Given the description of an element on the screen output the (x, y) to click on. 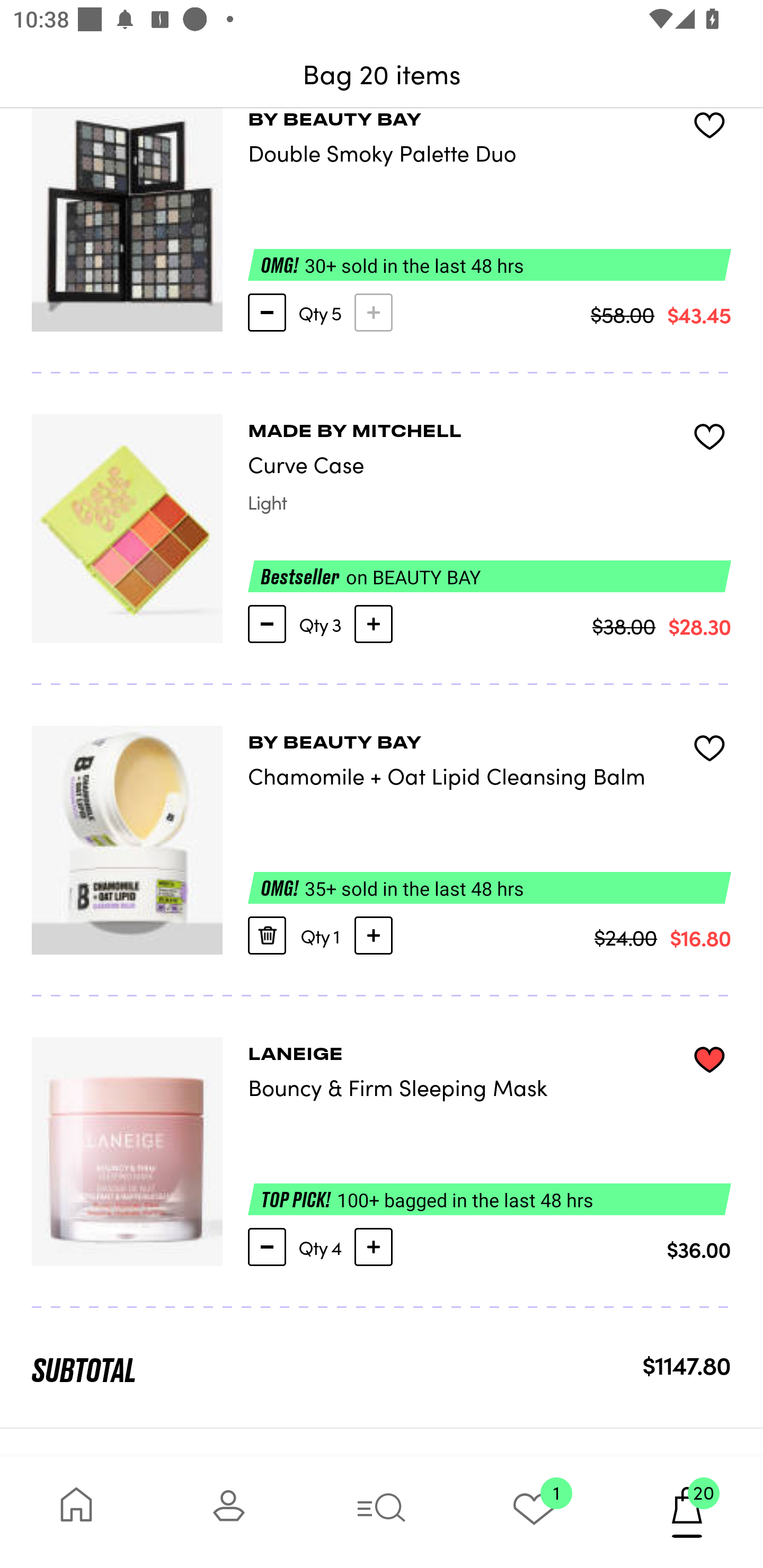
1 (533, 1512)
20 (686, 1512)
